Given the description of an element on the screen output the (x, y) to click on. 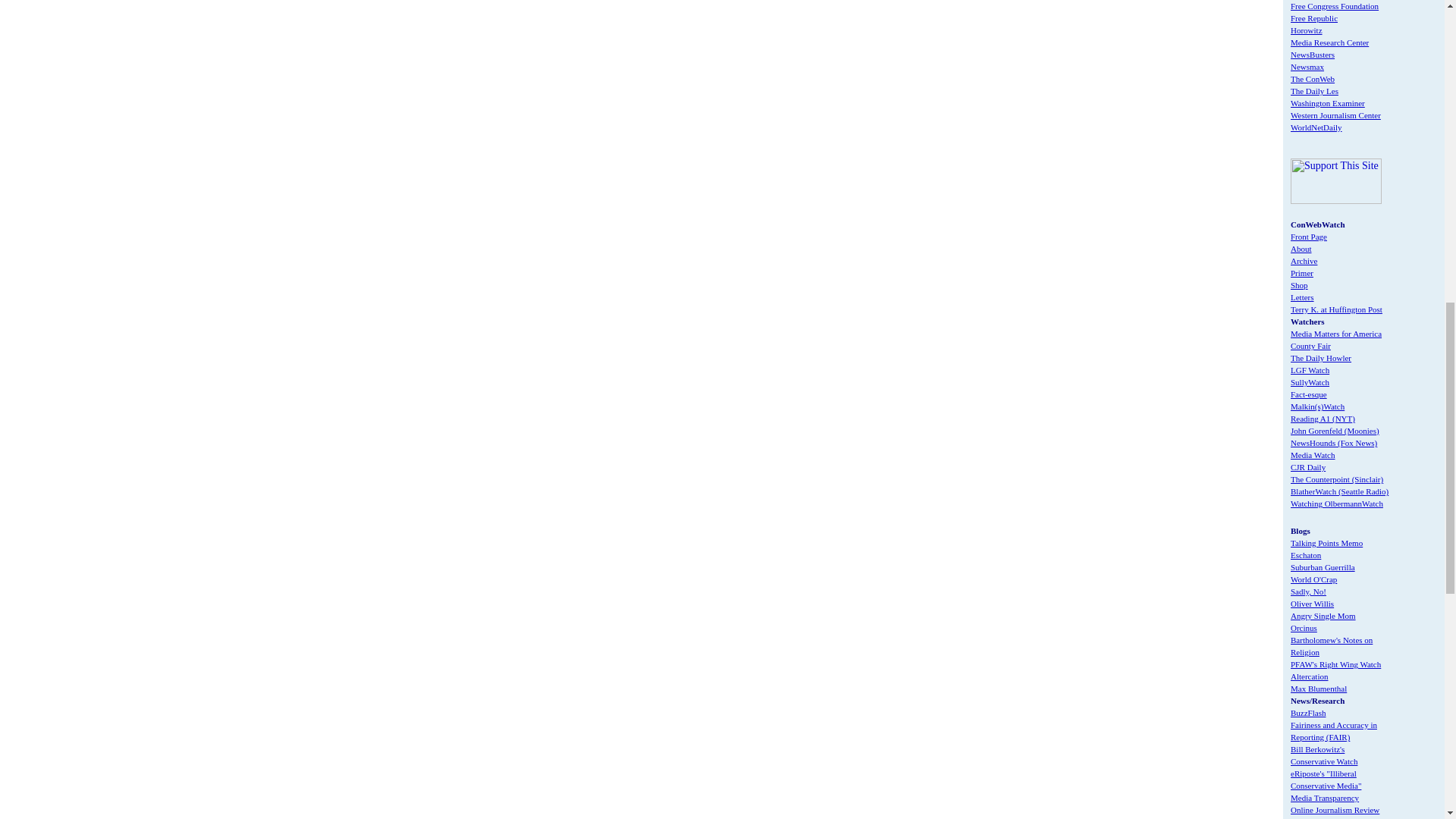
Western Journalism Center (1335, 114)
Front Page (1308, 235)
Horowitz (1306, 30)
Washington Examiner (1327, 102)
Free Congress Foundation (1334, 5)
The ConWeb (1312, 78)
NewsBusters (1312, 53)
Free Republic (1314, 17)
The Daily Les (1314, 90)
WorldNetDaily (1316, 126)
Newsmax (1306, 66)
Media Research Center (1329, 41)
